Given the description of an element on the screen output the (x, y) to click on. 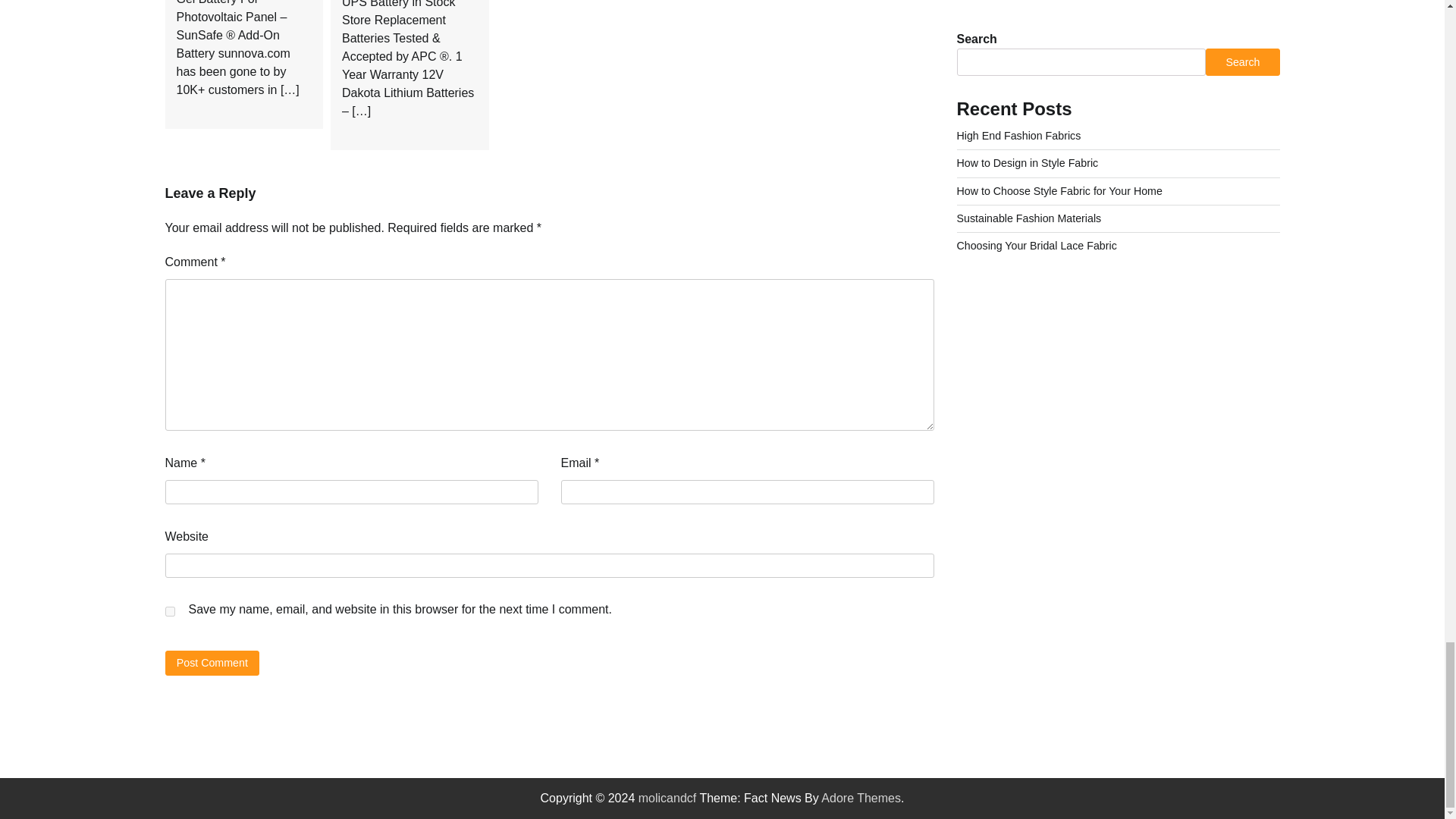
yes (169, 611)
Post Comment (212, 662)
Post Comment (212, 662)
molicandcf (667, 797)
Adore Themes (861, 797)
